Given the description of an element on the screen output the (x, y) to click on. 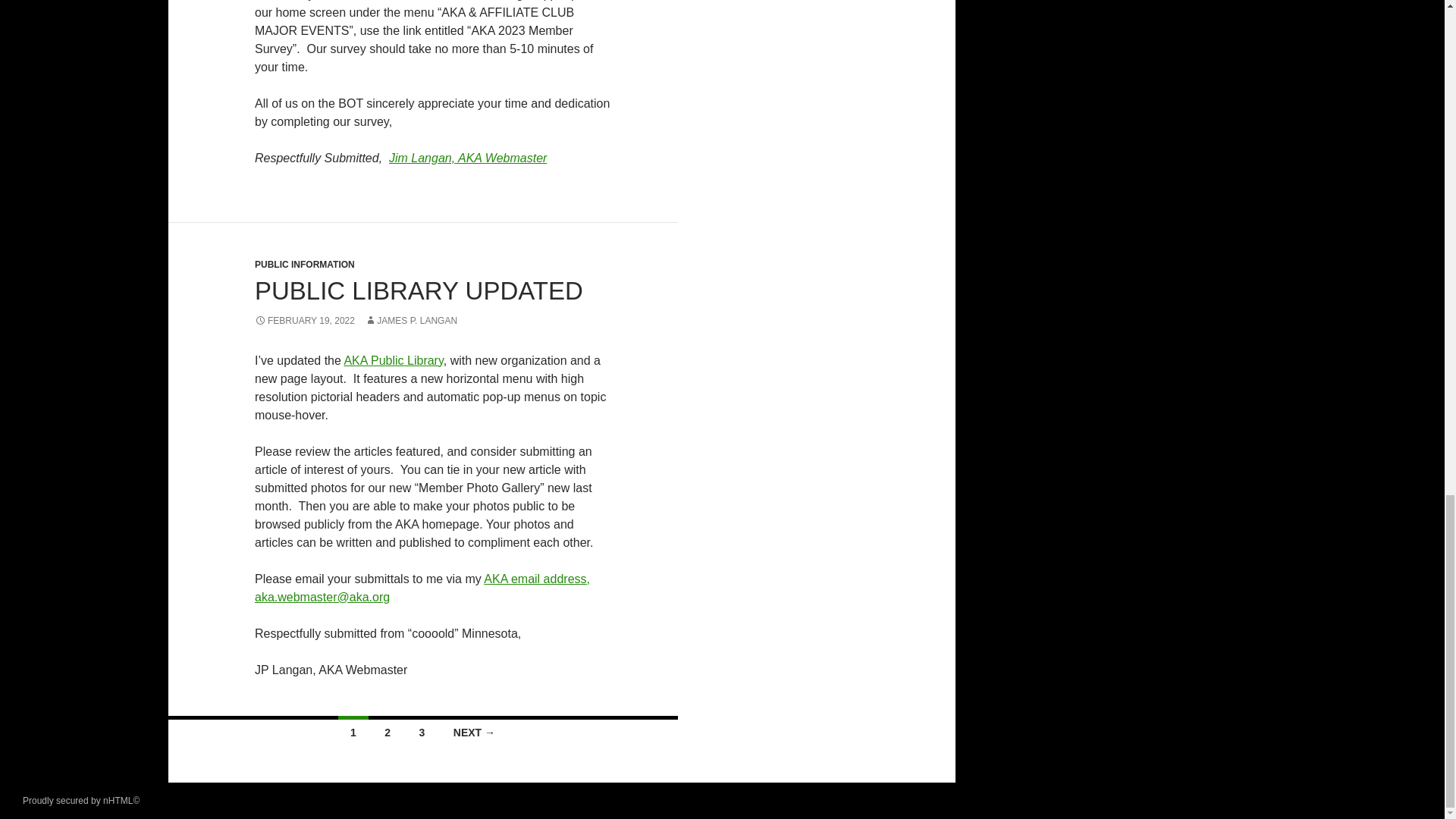
2 (387, 730)
JAMES P. LANGAN (411, 320)
AKA Public Library (392, 359)
3 (422, 730)
PUBLIC LIBRARY UPDATED (418, 290)
PUBLIC INFORMATION (304, 264)
FEBRUARY 19, 2022 (304, 320)
Jim Langan, AKA Webmaster (467, 157)
